Given the description of an element on the screen output the (x, y) to click on. 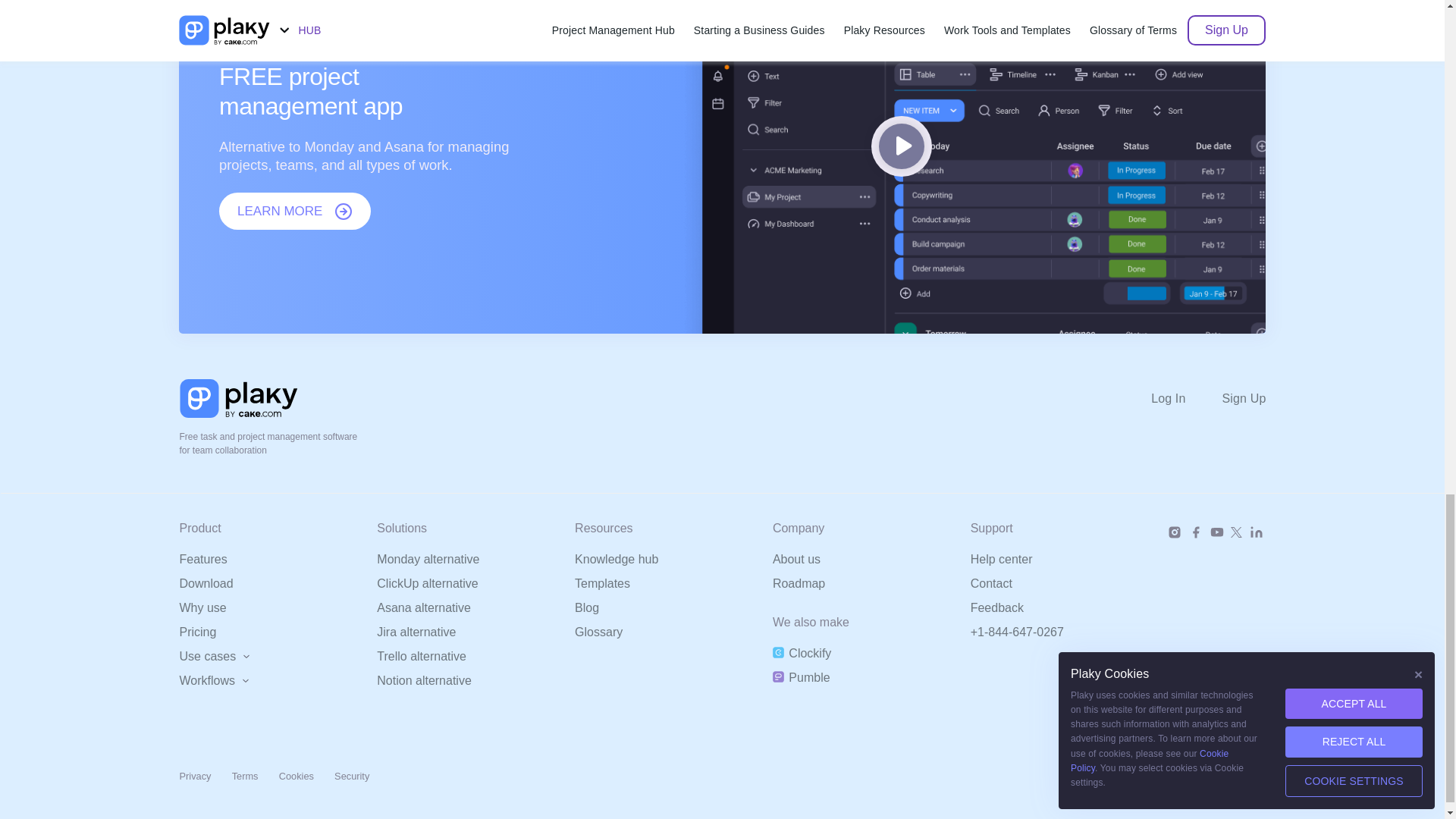
Features (203, 559)
Sign Up (1244, 398)
Download (205, 583)
Why use (202, 607)
Use cases (213, 656)
LEARN MORE (295, 211)
Pricing (197, 631)
Log In (1186, 398)
